Given the description of an element on the screen output the (x, y) to click on. 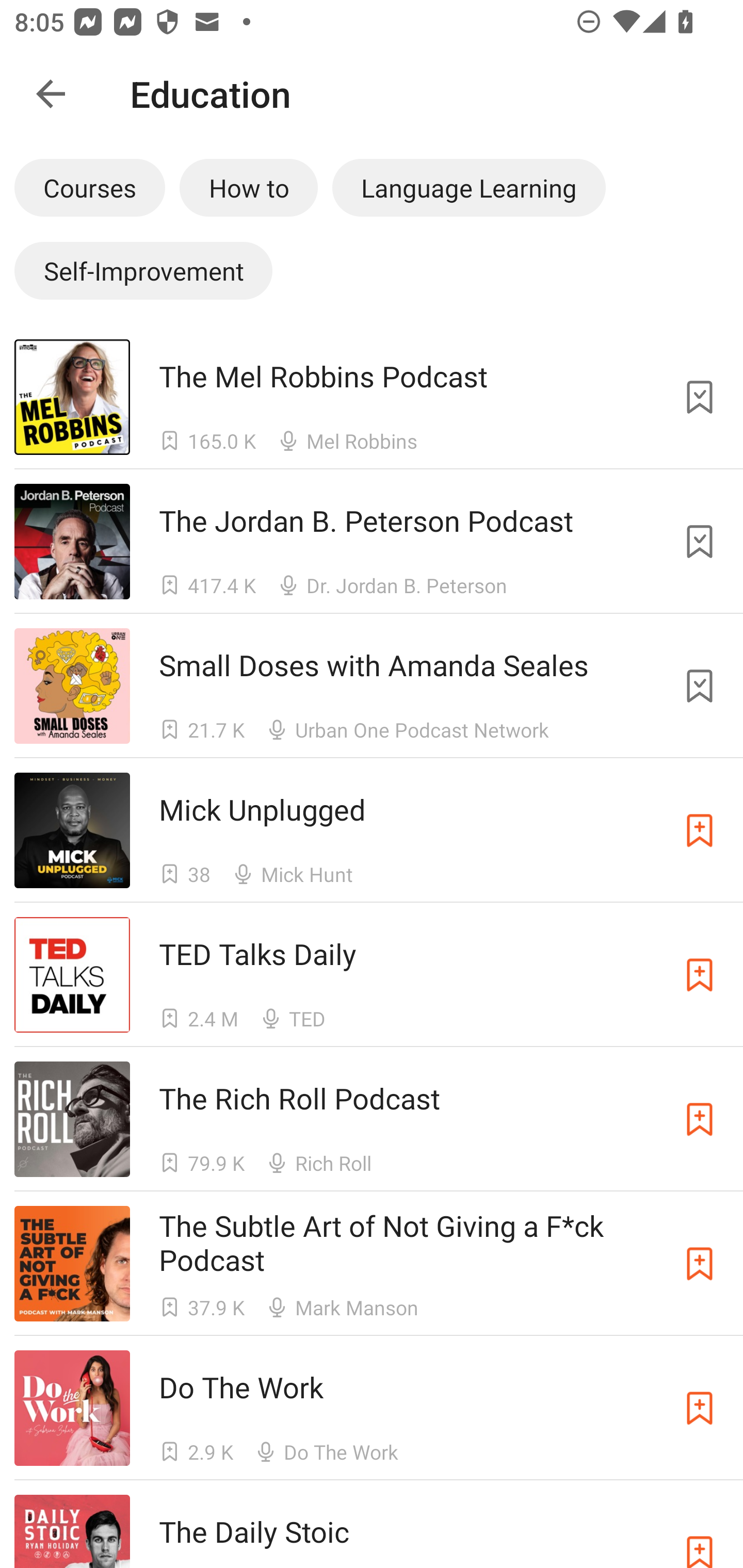
Navigate up (50, 93)
Courses (89, 187)
How to (248, 187)
Language Learning (468, 187)
Self-Improvement (143, 270)
Unsubscribe (699, 396)
Unsubscribe (699, 541)
Unsubscribe (699, 685)
Subscribe (699, 830)
Subscribe (699, 975)
Subscribe (699, 1119)
Subscribe (699, 1263)
Subscribe (699, 1408)
The Daily Stoic The Daily Stoic Subscribe (371, 1524)
Subscribe (699, 1531)
